Given the description of an element on the screen output the (x, y) to click on. 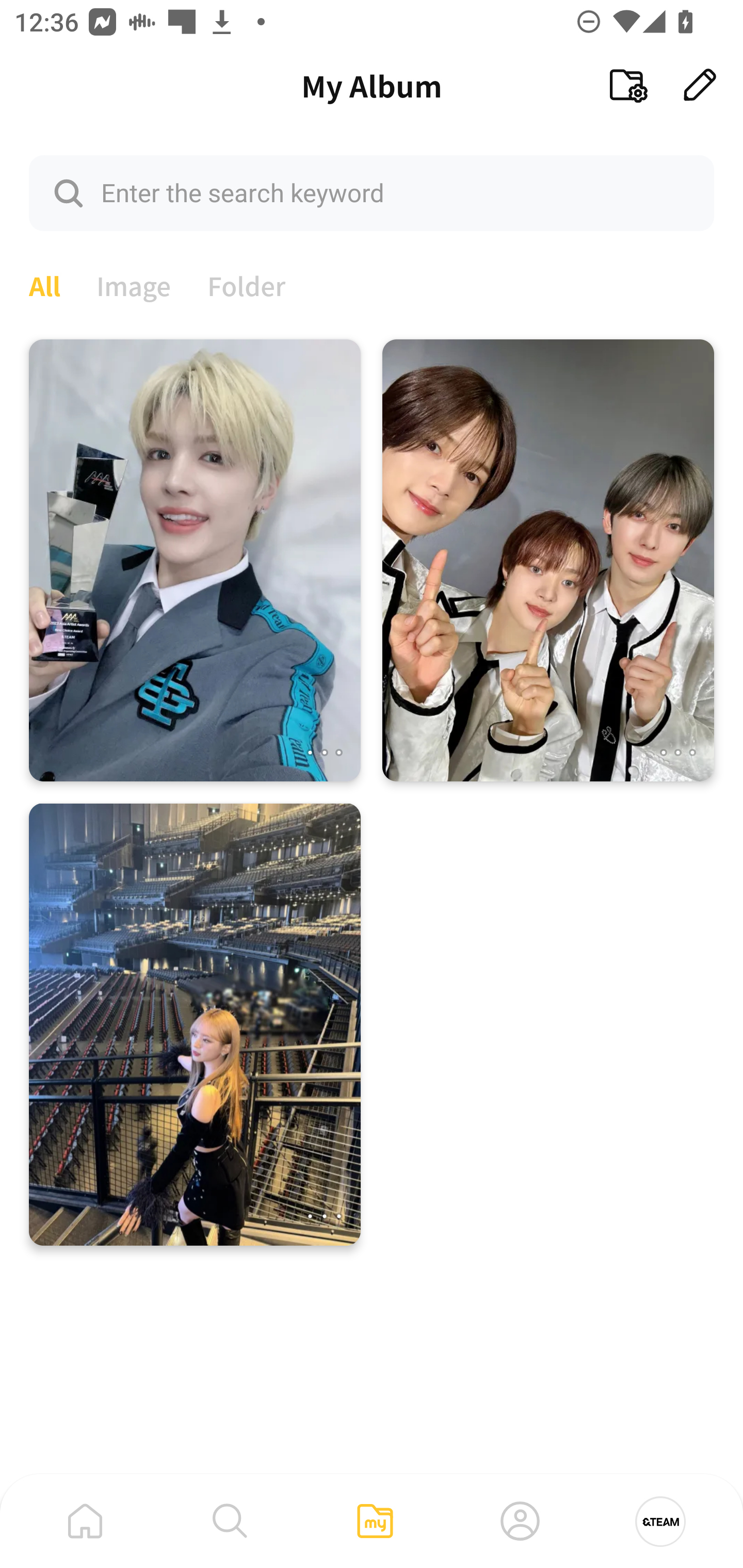
Enter the search keyword (371, 192)
All (44, 284)
Image (133, 284)
Folder (246, 284)
